Given the description of an element on the screen output the (x, y) to click on. 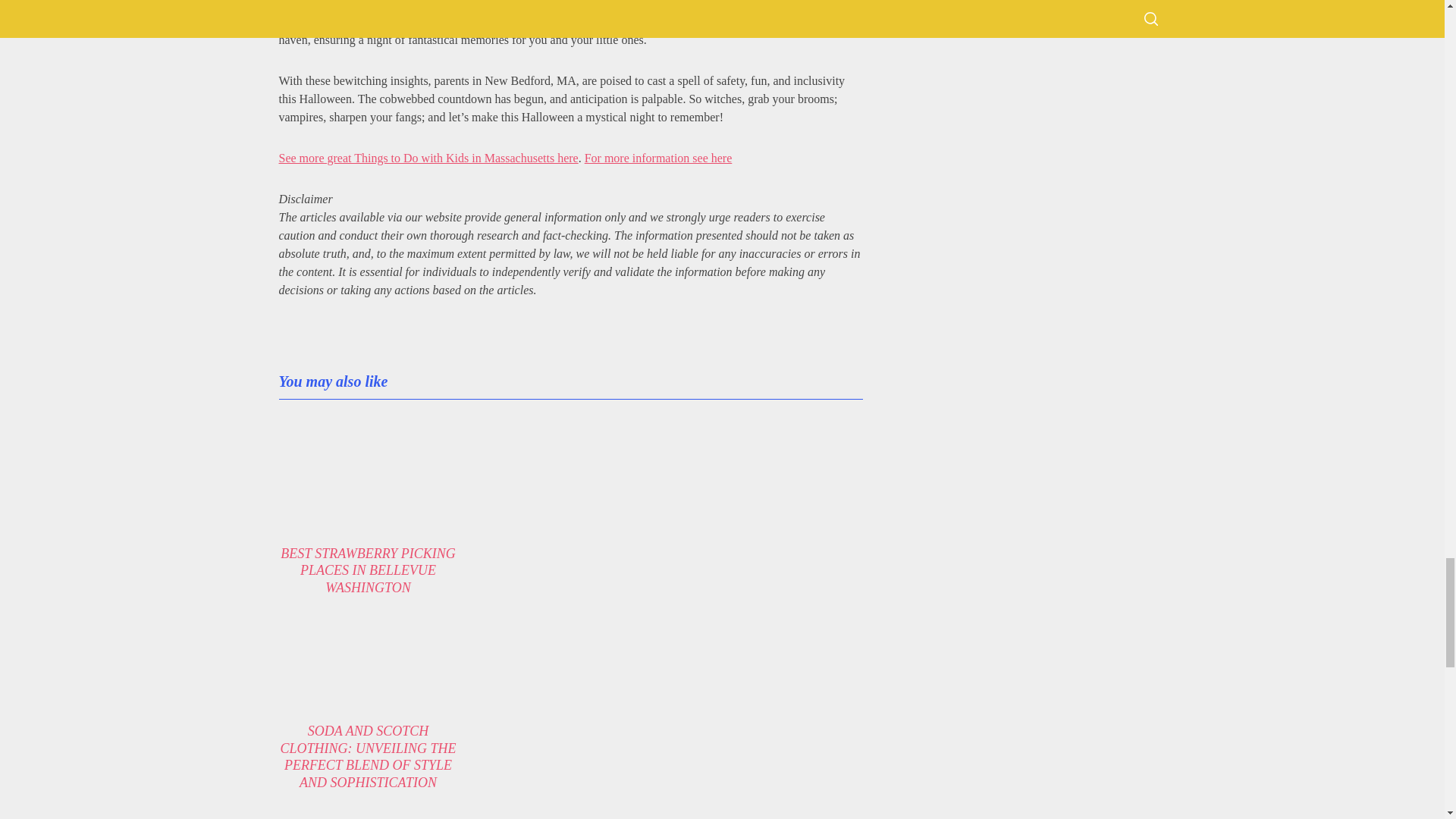
For more information see here (658, 157)
See more great Things to Do with Kids in Massachusetts here (428, 157)
BEST STRAWBERRY PICKING PLACES IN BELLEVUE WASHINGTON (368, 570)
